Given the description of an element on the screen output the (x, y) to click on. 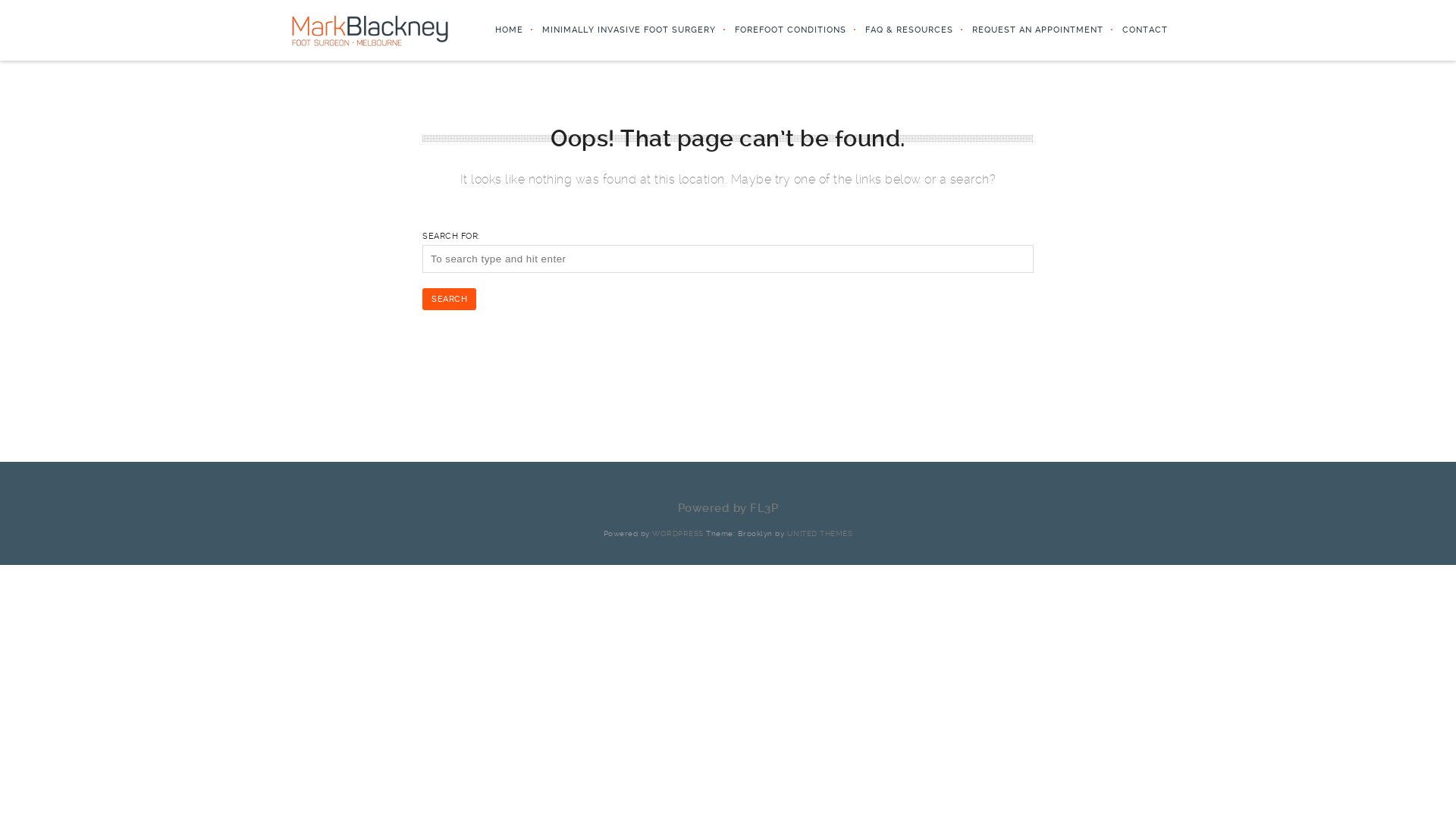
WORDPRESS Element type: text (677, 533)
Search for: Element type: hover (727, 258)
UNITED THEMES Element type: text (820, 533)
Mark Blackney Element type: hover (369, 30)
MINIMALLY INVASIVE FOOT SURGERY Element type: text (619, 30)
FAQ & RESOURCES Element type: text (899, 30)
Search Element type: text (449, 299)
HOME Element type: text (499, 30)
FL3P Element type: text (763, 507)
REQUEST AN APPOINTMENT Element type: text (1028, 30)
CONTACT Element type: text (1135, 30)
FOREFOOT CONDITIONS Element type: text (780, 30)
